Given the description of an element on the screen output the (x, y) to click on. 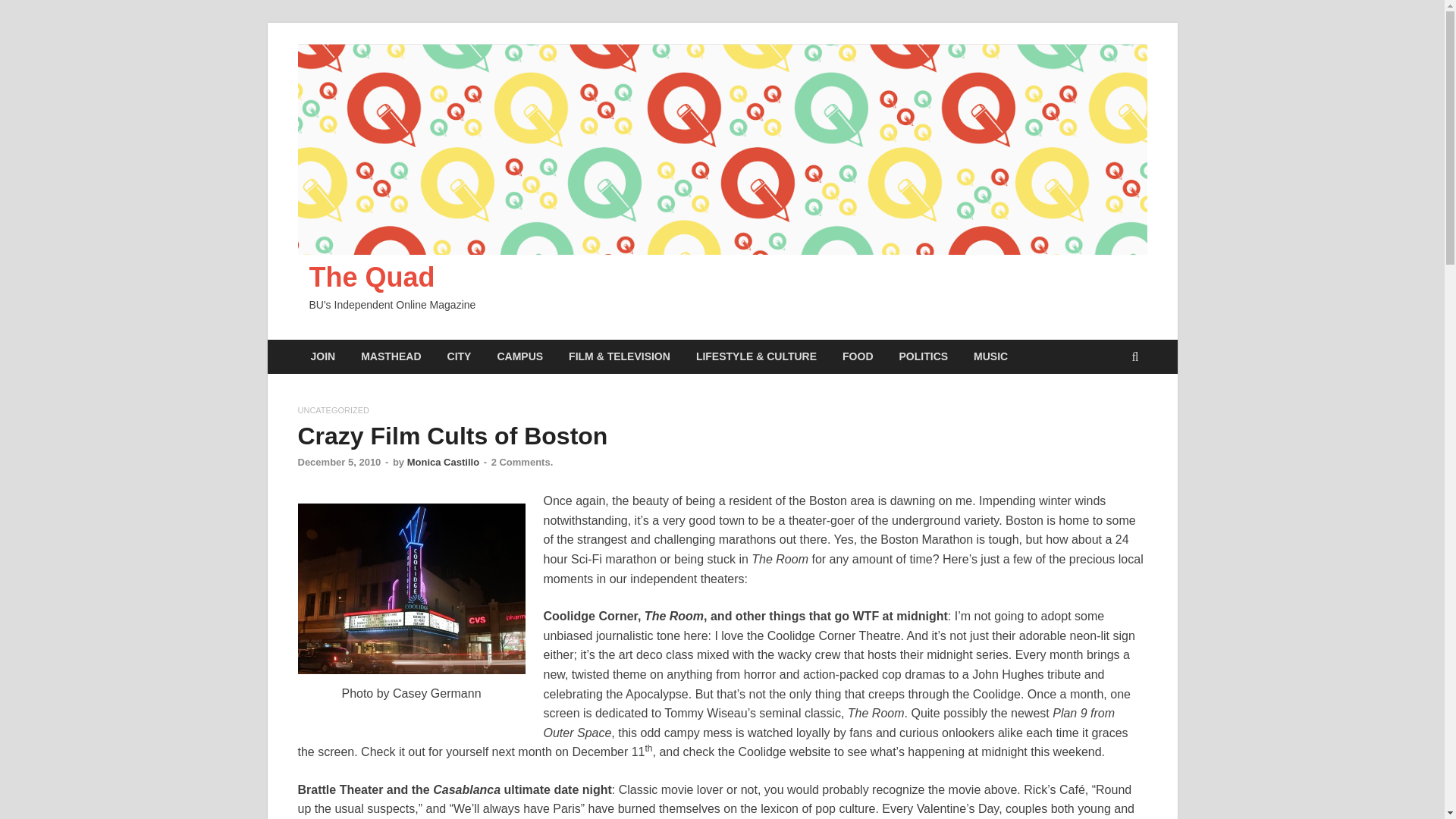
CAMPUS (519, 356)
MUSIC (990, 356)
December 5, 2010 (338, 461)
2 Comments. (522, 461)
The Quad (371, 276)
CITY (458, 356)
FOOD (857, 356)
JOIN (322, 356)
Monica Castillo (443, 461)
MASTHEAD (390, 356)
POLITICS (923, 356)
Coolidge (410, 588)
